Given the description of an element on the screen output the (x, y) to click on. 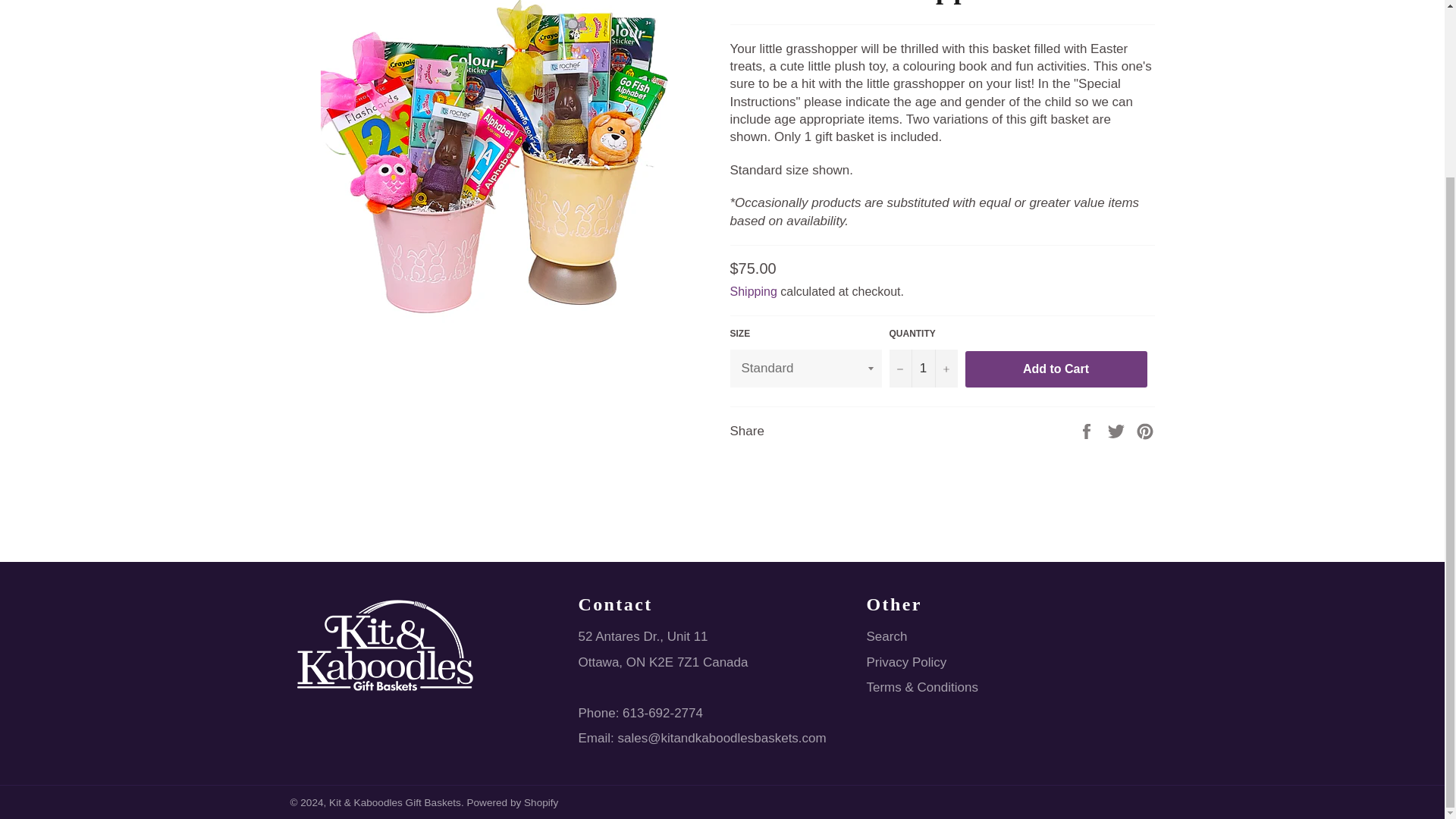
1 (922, 367)
Tweet on Twitter (1117, 431)
Share on Facebook (1088, 431)
Pin on Pinterest (1144, 431)
